Given the description of an element on the screen output the (x, y) to click on. 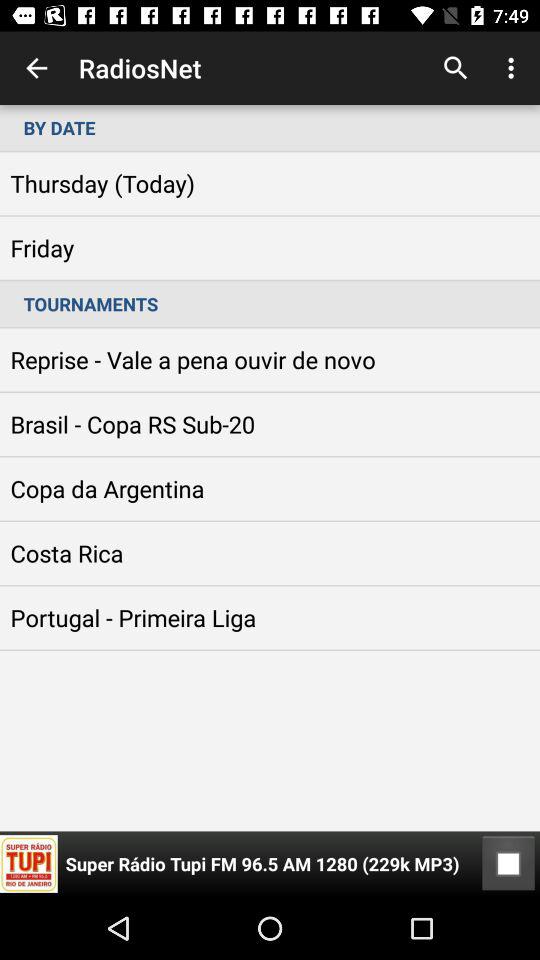
click on menu icon in top (514, 68)
click on search button (456, 68)
